Given the description of an element on the screen output the (x, y) to click on. 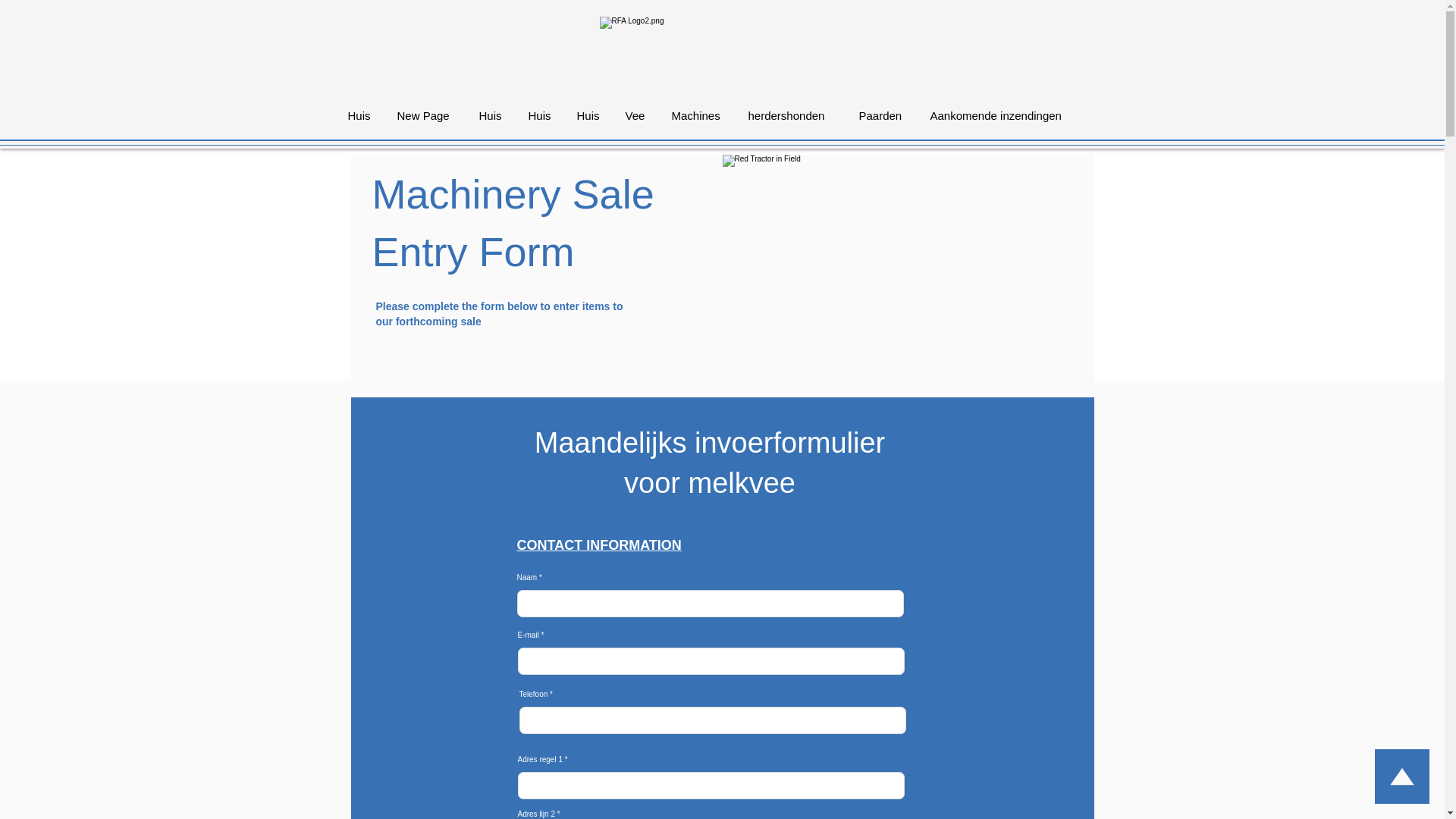
Huis (590, 115)
herdershonden (791, 115)
Huis (491, 115)
Huis (360, 115)
Machines (697, 115)
Huis (541, 115)
Paarden (882, 115)
Aankomende inzendingen (1003, 115)
New Page (426, 115)
